Given the description of an element on the screen output the (x, y) to click on. 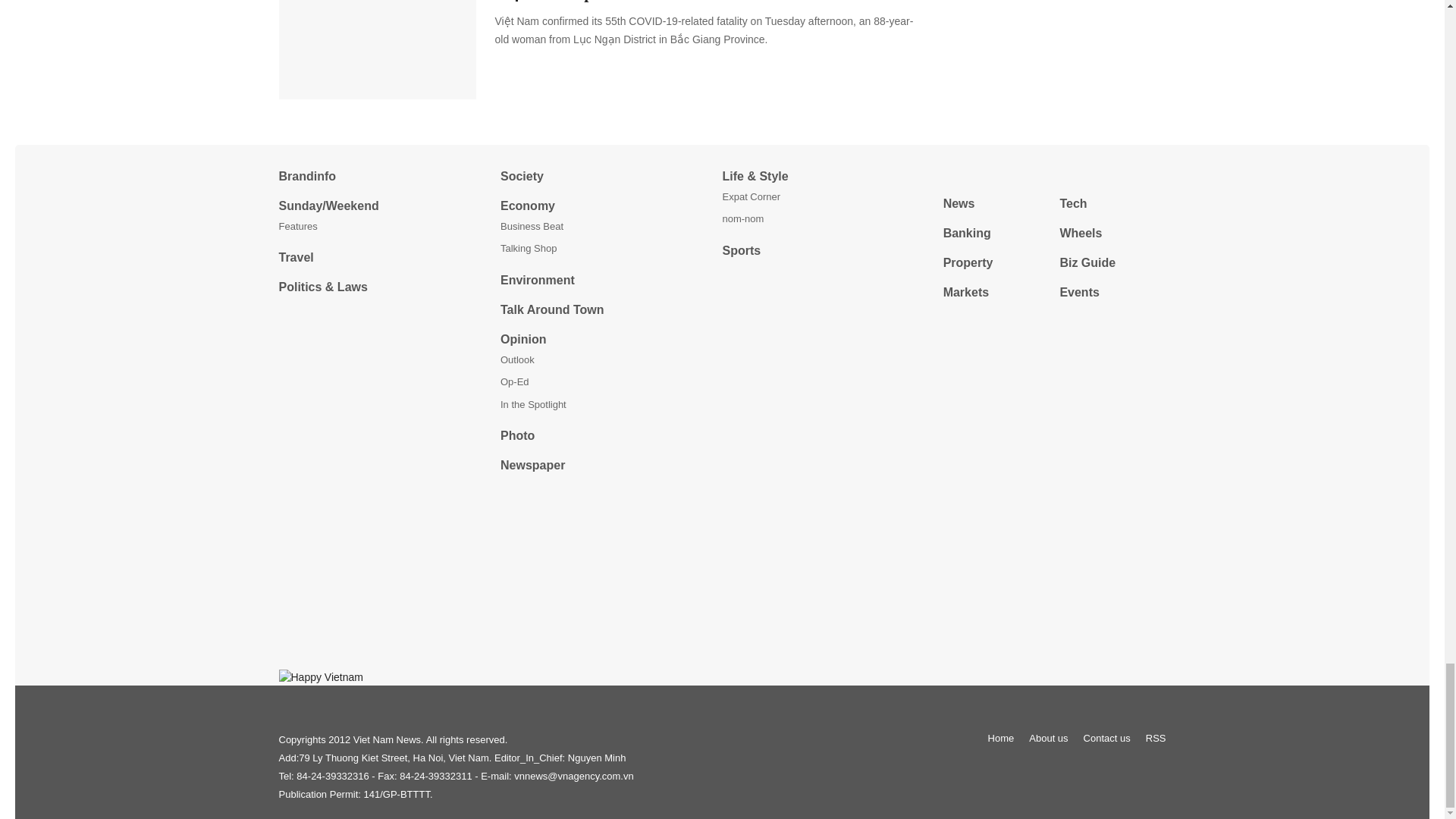
bizhub (1054, 175)
